Given the description of an element on the screen output the (x, y) to click on. 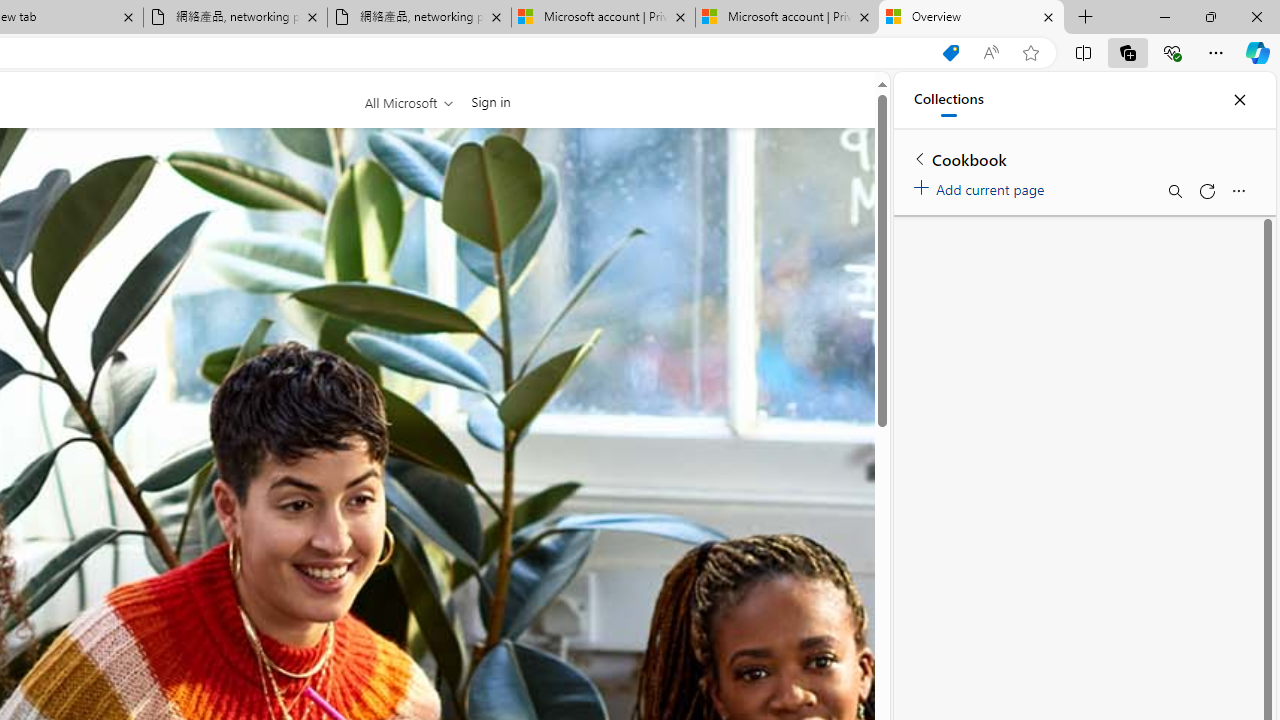
More options menu (1238, 190)
Add current page (982, 186)
Back to list of collections (920, 158)
